Given the description of an element on the screen output the (x, y) to click on. 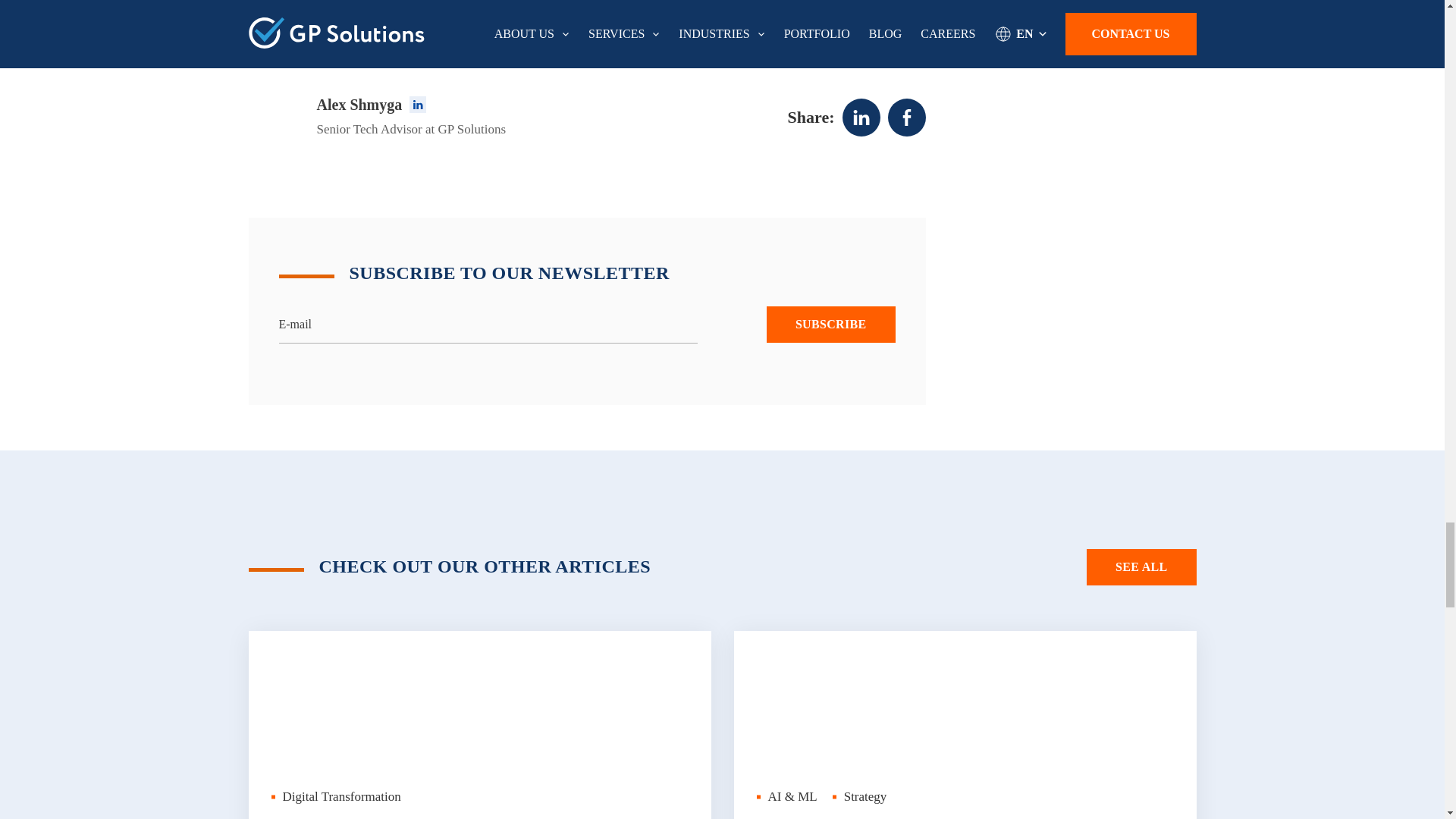
Subscribe (831, 324)
